Given the description of an element on the screen output the (x, y) to click on. 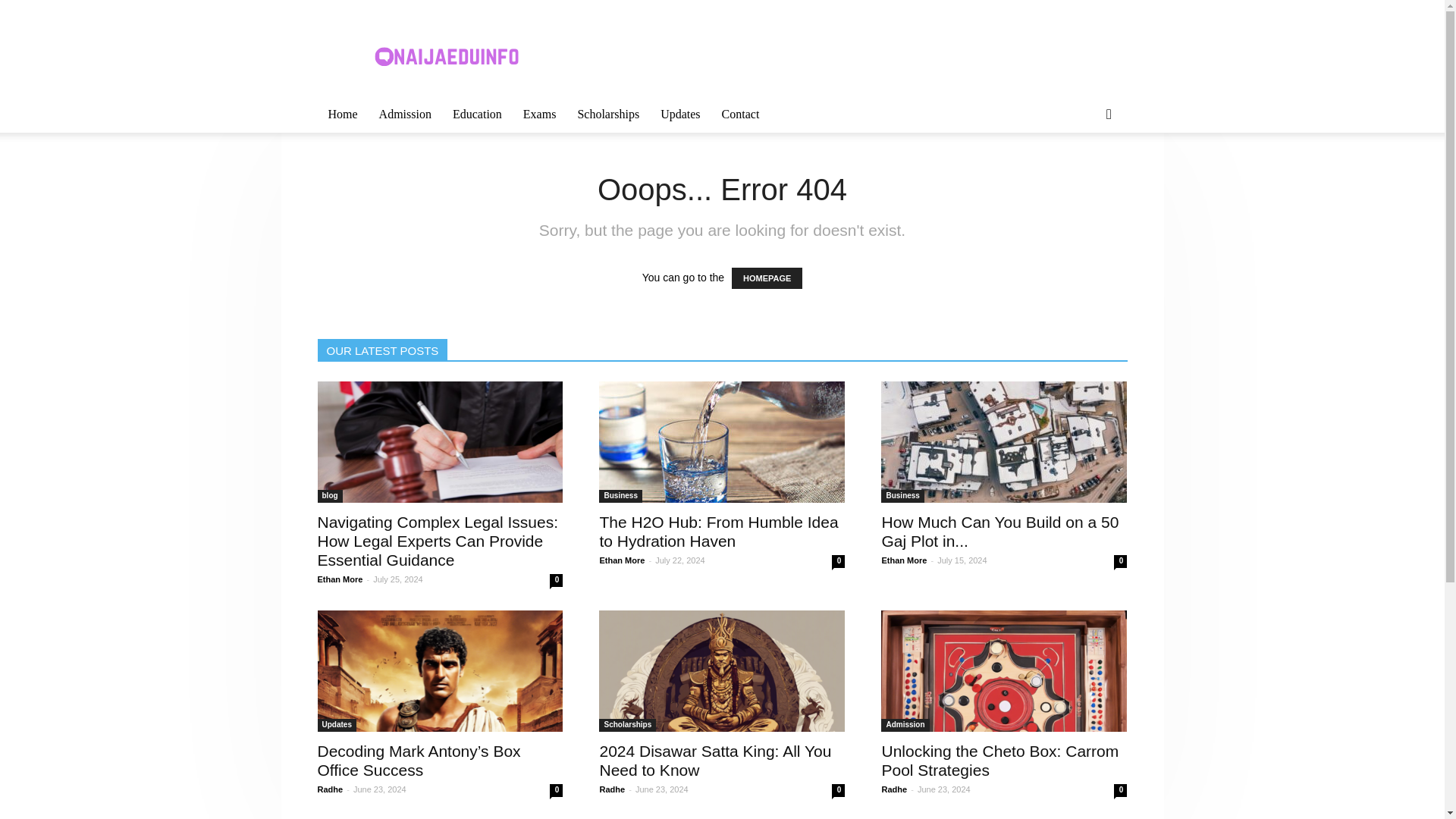
How Much Can You Build on a 50 Gaj Plot in Delhi? (1003, 441)
Scholarships (607, 114)
Advertisement (850, 55)
HOMEPAGE (767, 278)
Contact (740, 114)
Business (901, 495)
Home (342, 114)
Exams (539, 114)
Search (1085, 174)
Business (620, 495)
The H2O Hub: From Humble Idea to Hydration Haven (721, 441)
Updates (679, 114)
0 (556, 580)
Education (477, 114)
Admission (405, 114)
